Given the description of an element on the screen output the (x, y) to click on. 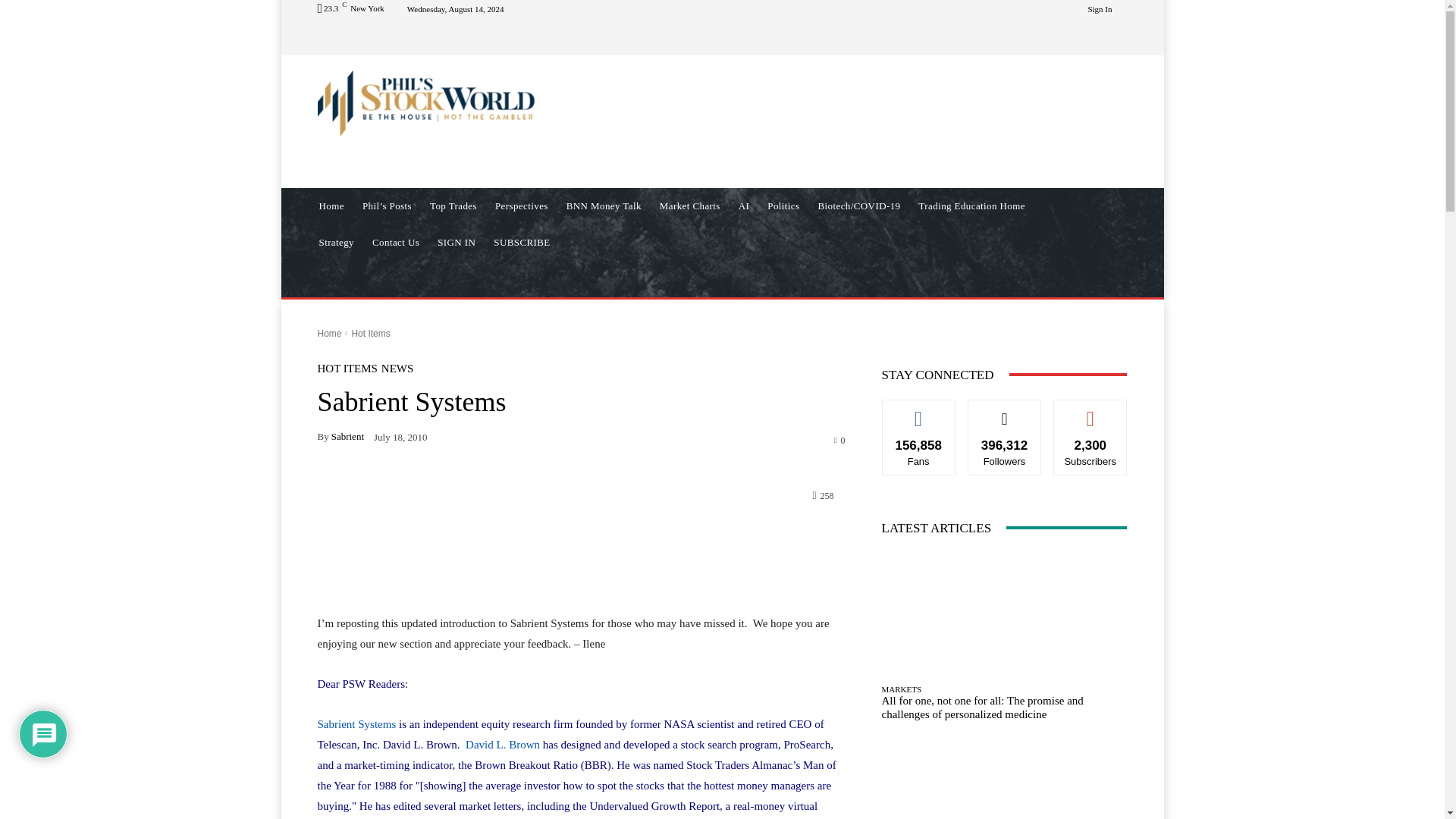
SUBSCRIBE (521, 242)
Strategy (335, 242)
View all posts in Hot Items (370, 333)
Sign In (1099, 8)
SIGN IN (456, 242)
Trading Education Home (970, 206)
Home (330, 206)
BNN Money Talk (603, 206)
Hot Items (370, 333)
Politics (783, 206)
